Given the description of an element on the screen output the (x, y) to click on. 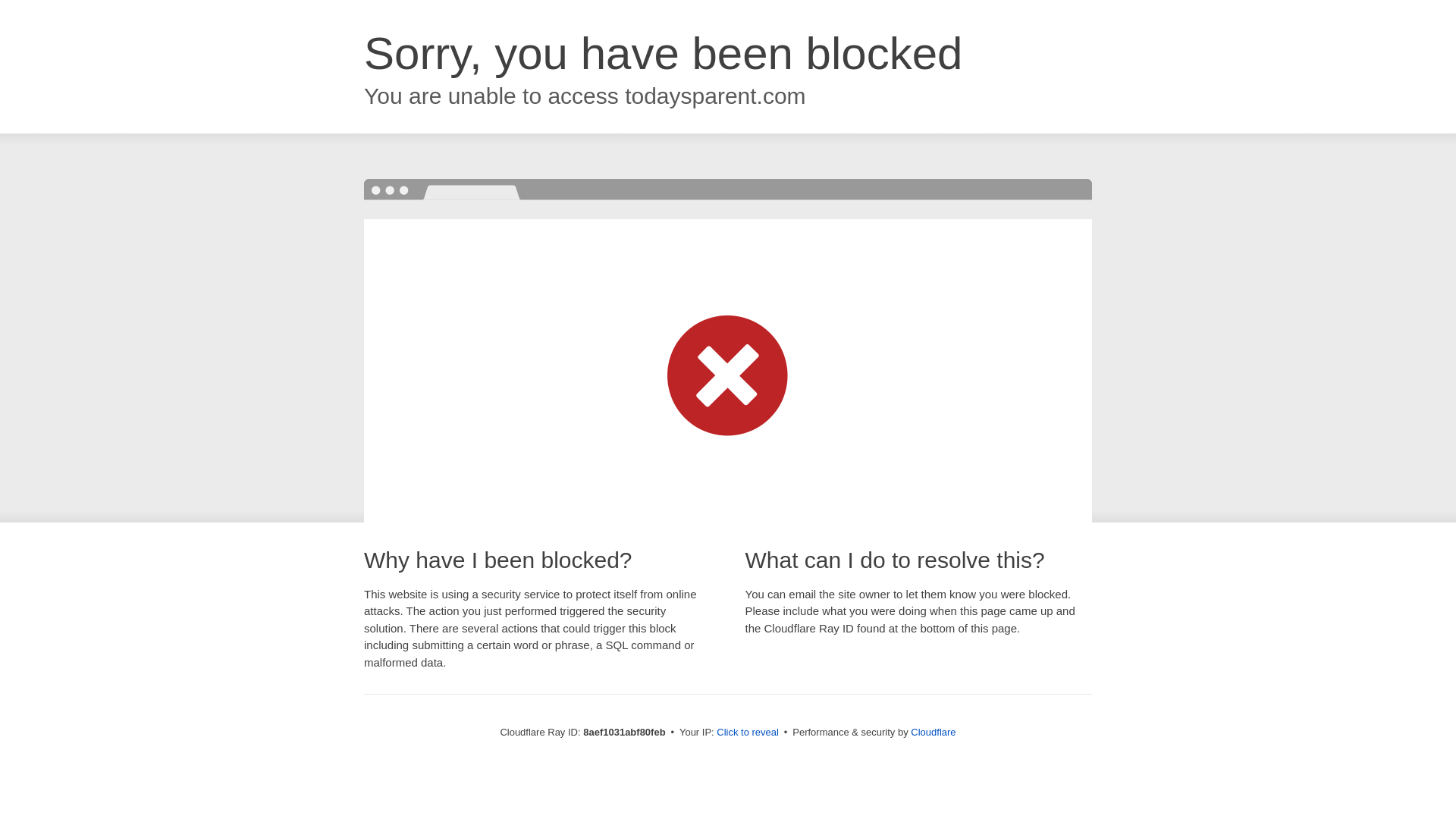
Cloudflare (933, 731)
Click to reveal (747, 732)
